Given the description of an element on the screen output the (x, y) to click on. 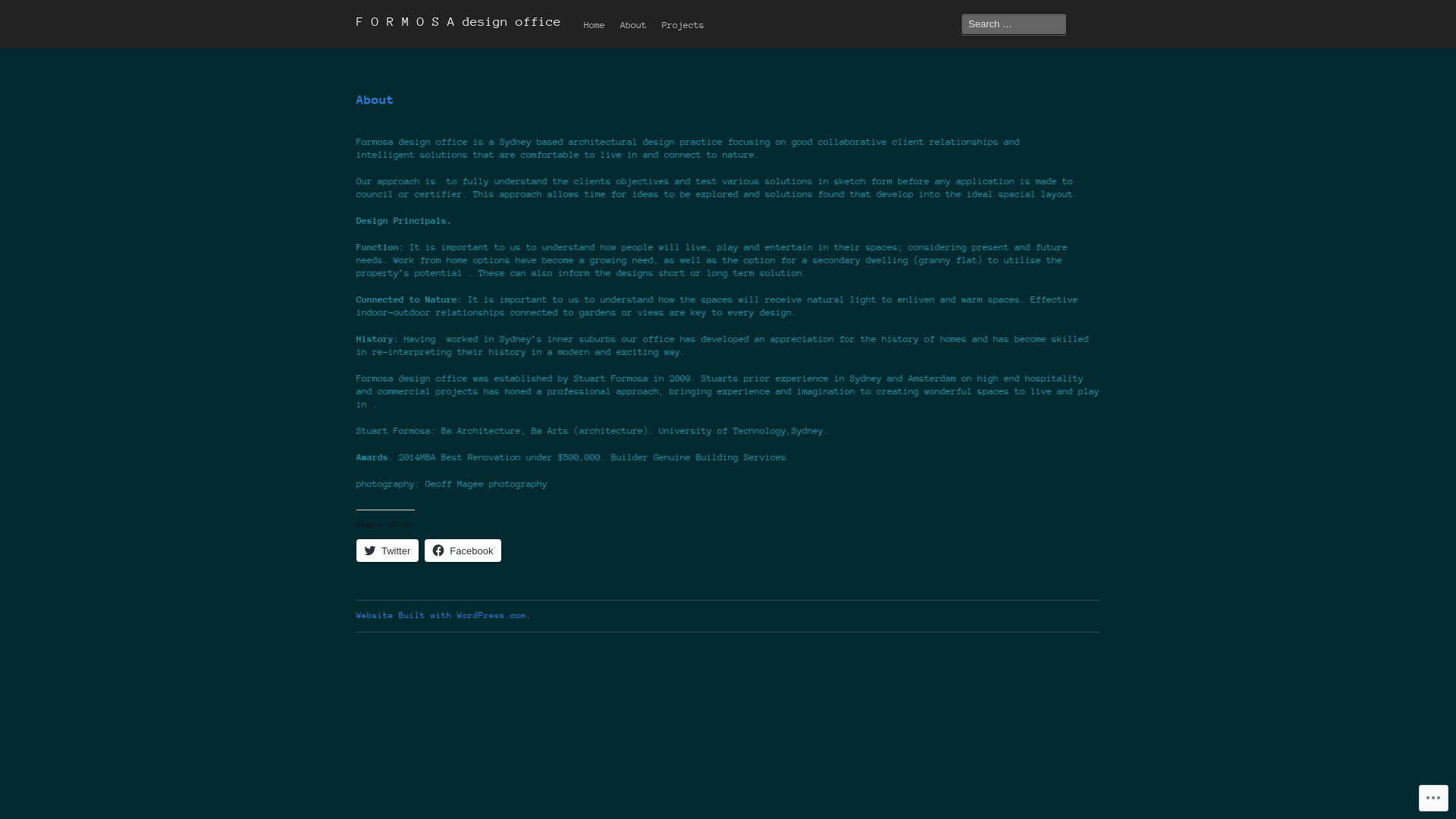
Website Built with WordPress.com Element type: text (441, 615)
F O R M O S A design office Element type: text (458, 23)
Skip to content Element type: text (615, 15)
Twitter Element type: text (387, 550)
Projects Element type: text (683, 25)
Home Element type: text (594, 25)
Facebook Element type: text (462, 550)
Search Element type: text (23, 10)
About Element type: text (633, 25)
